Given the description of an element on the screen output the (x, y) to click on. 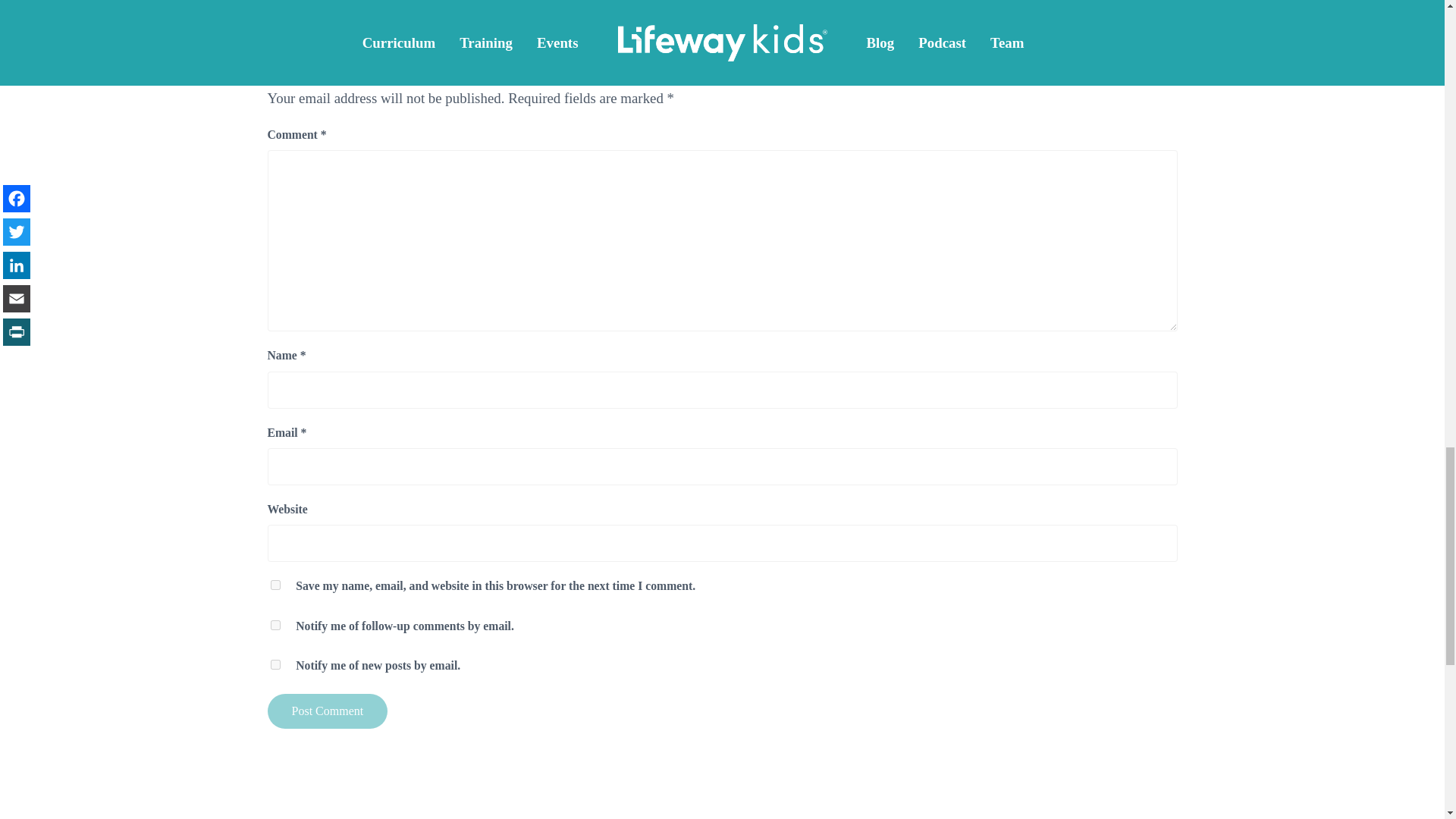
yes (274, 584)
Post Comment (326, 710)
subscribe (274, 664)
Post Comment (326, 710)
subscribe (274, 624)
